Given the description of an element on the screen output the (x, y) to click on. 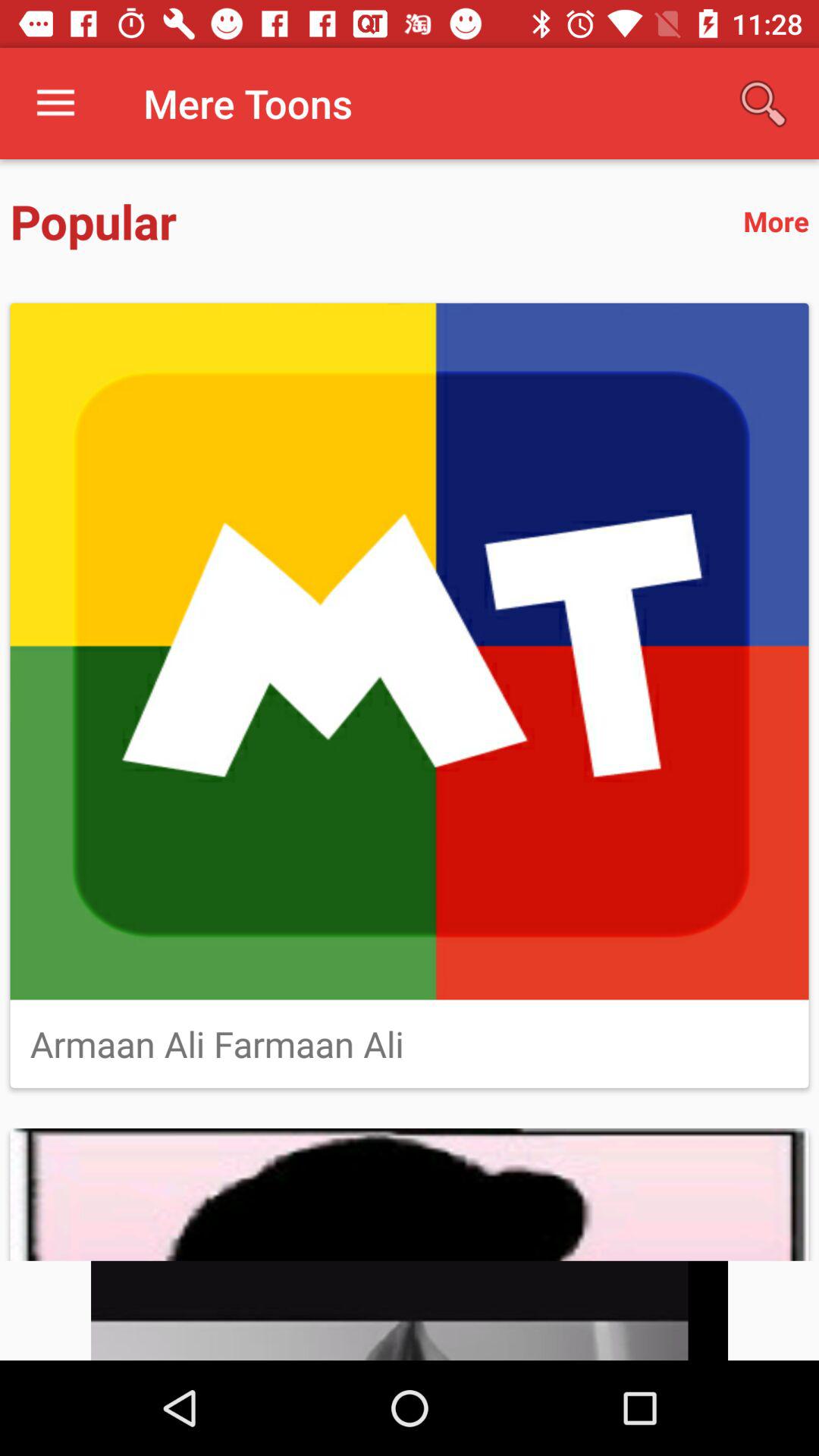
choose icon next to mere toons icon (763, 103)
